Given the description of an element on the screen output the (x, y) to click on. 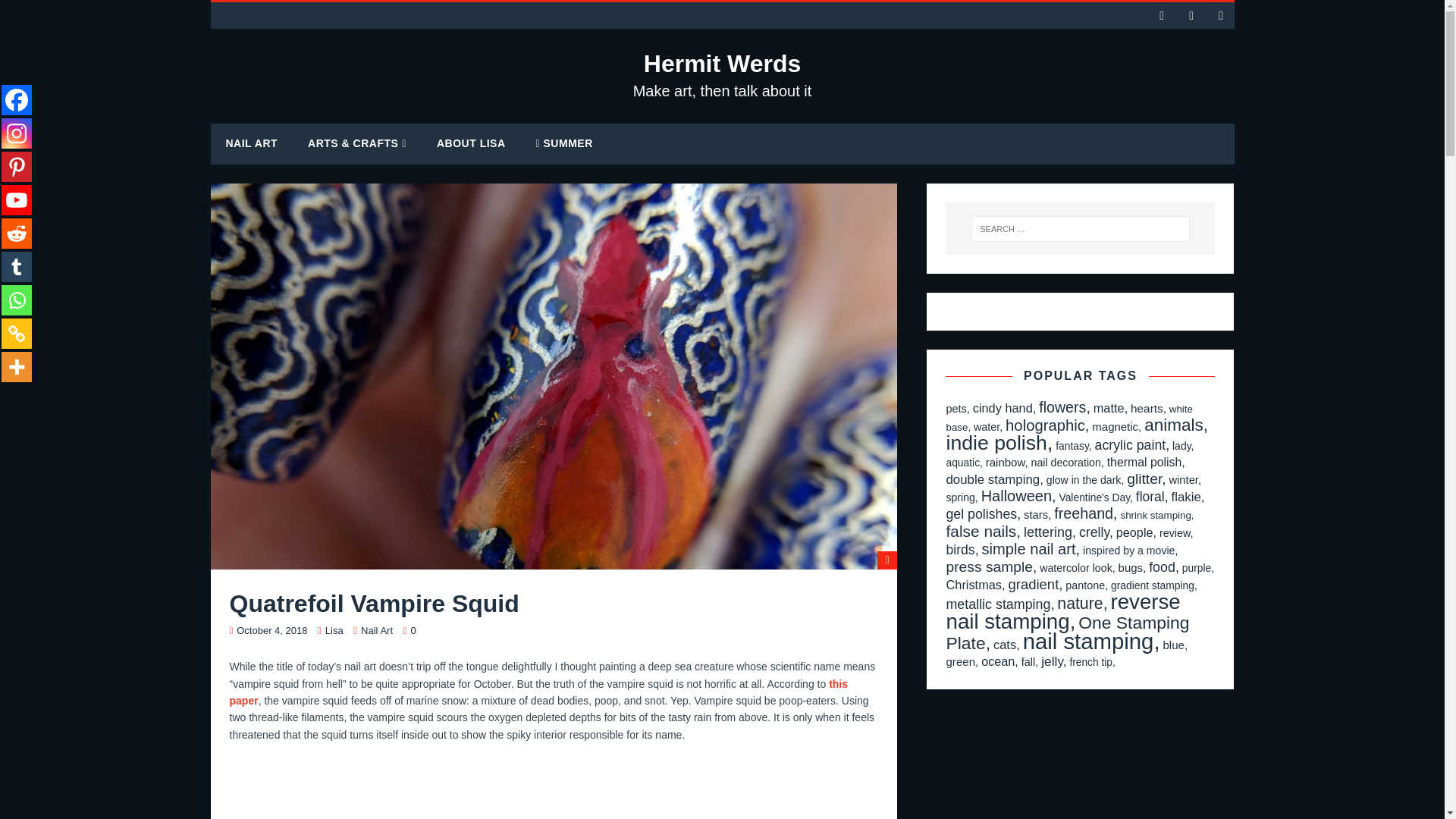
October 4, 2018 (271, 630)
Hermit Werds (722, 74)
NAIL ART (252, 142)
Pinterest (16, 166)
this paper (537, 692)
Nail Art (377, 630)
Lisa (333, 630)
Instagram (16, 132)
Facebook (16, 100)
